Given the description of an element on the screen output the (x, y) to click on. 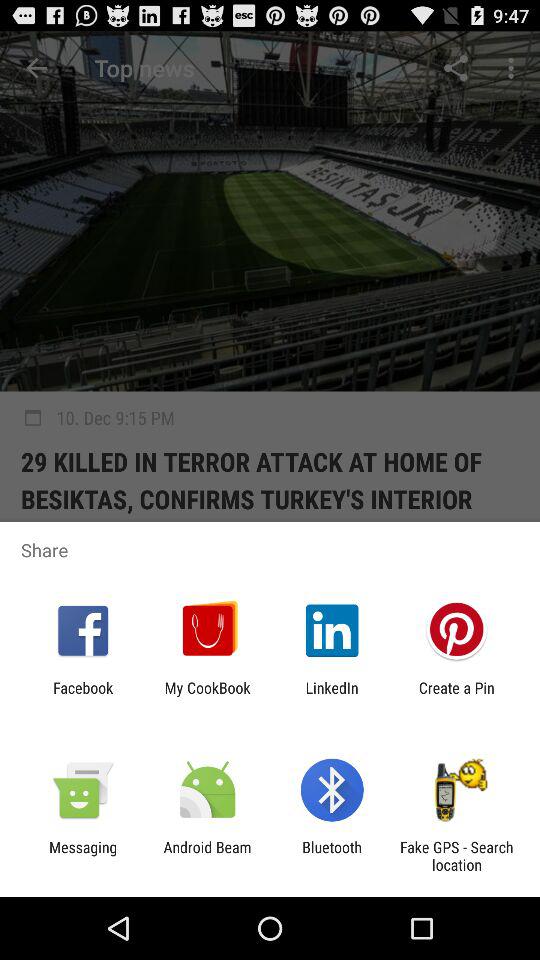
flip until the fake gps search app (456, 856)
